Given the description of an element on the screen output the (x, y) to click on. 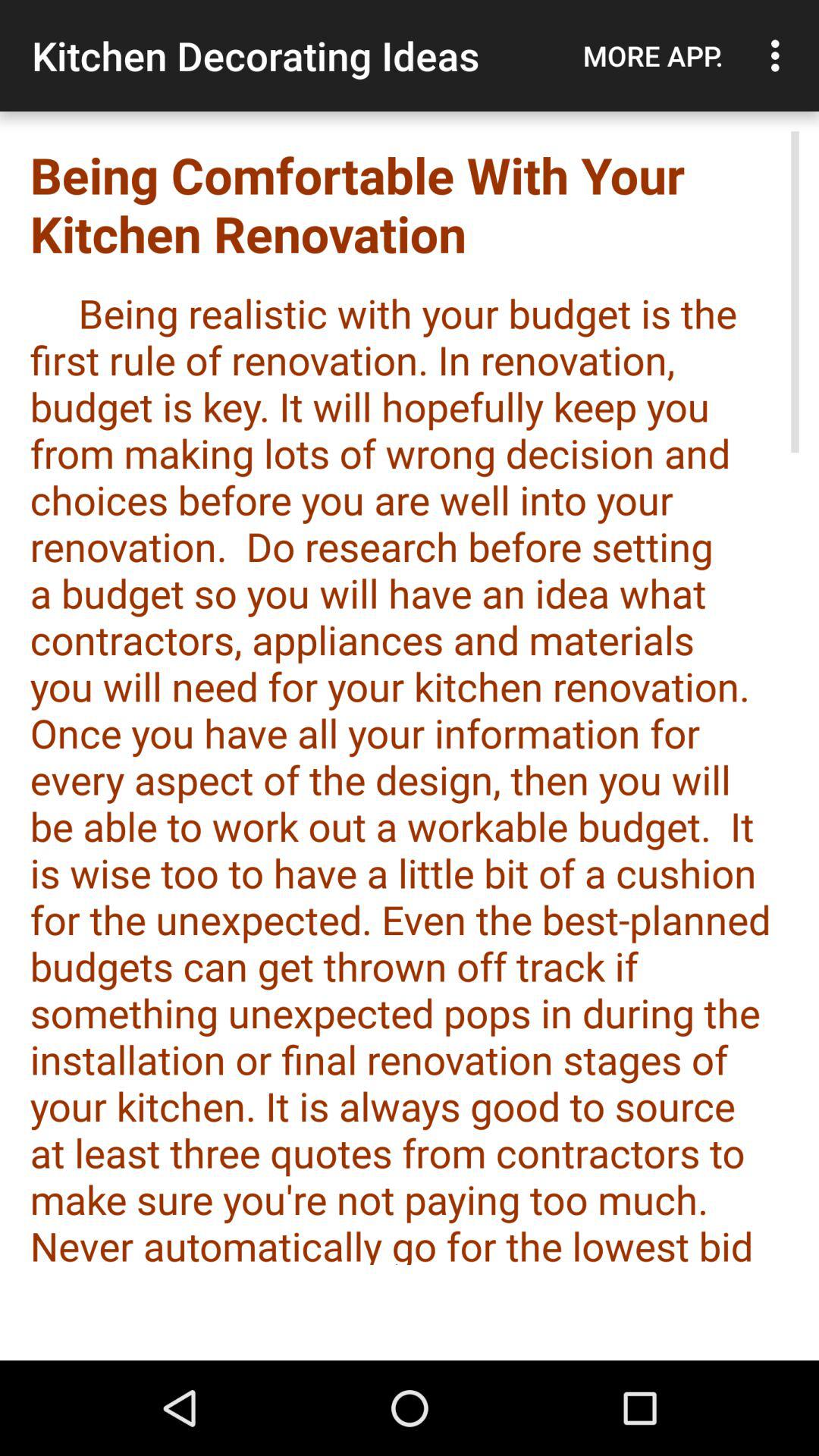
turn off the more app. icon (653, 55)
